Given the description of an element on the screen output the (x, y) to click on. 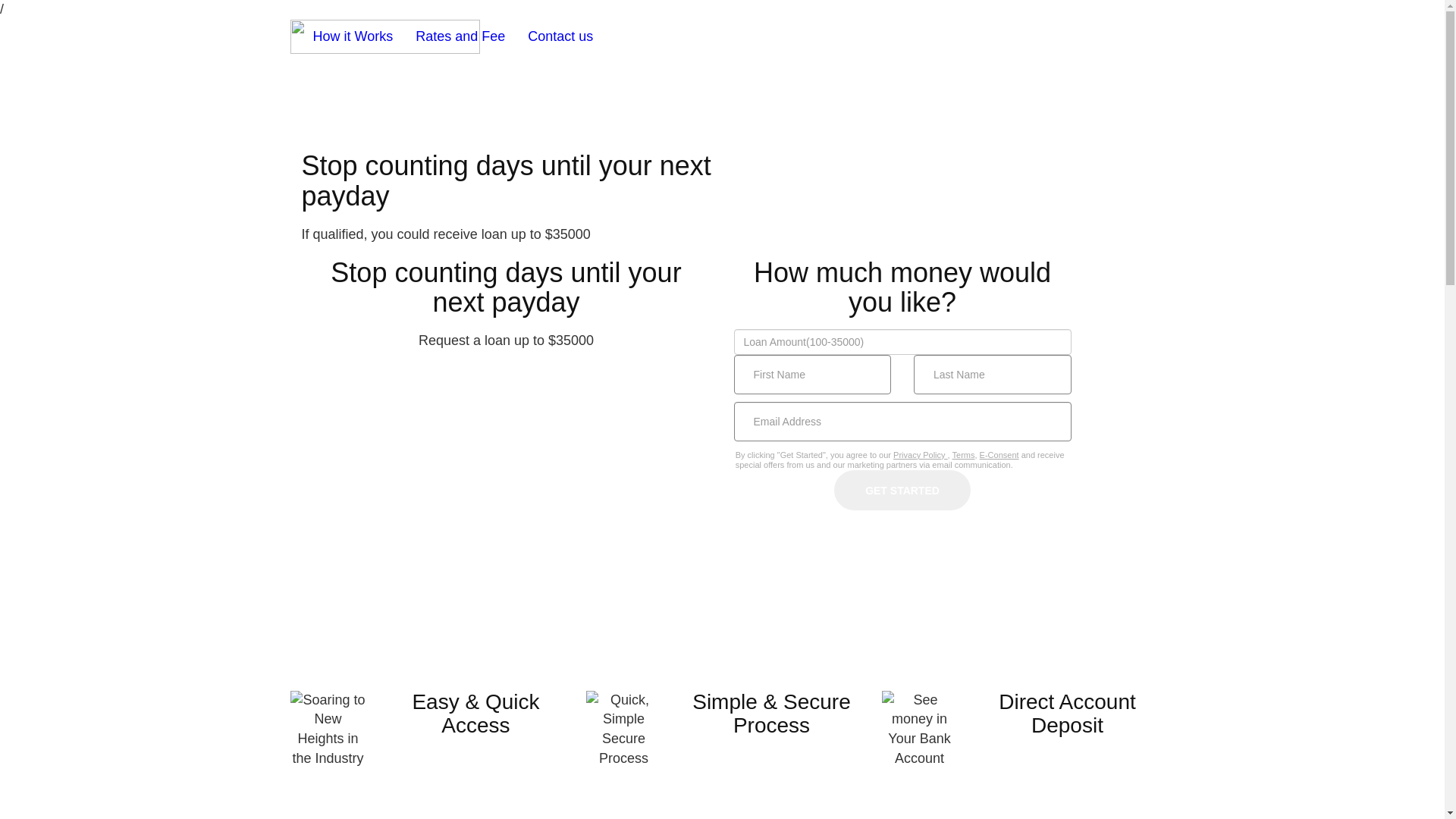
Rates and Fee Element type: text (460, 36)
Contact us Element type: text (560, 36)
Terms Element type: text (963, 454)
GET STARTED Element type: text (902, 490)
E-Consent Element type: text (999, 454)
How it Works Element type: text (352, 36)
Privacy Policy Element type: text (920, 454)
